Given the description of an element on the screen output the (x, y) to click on. 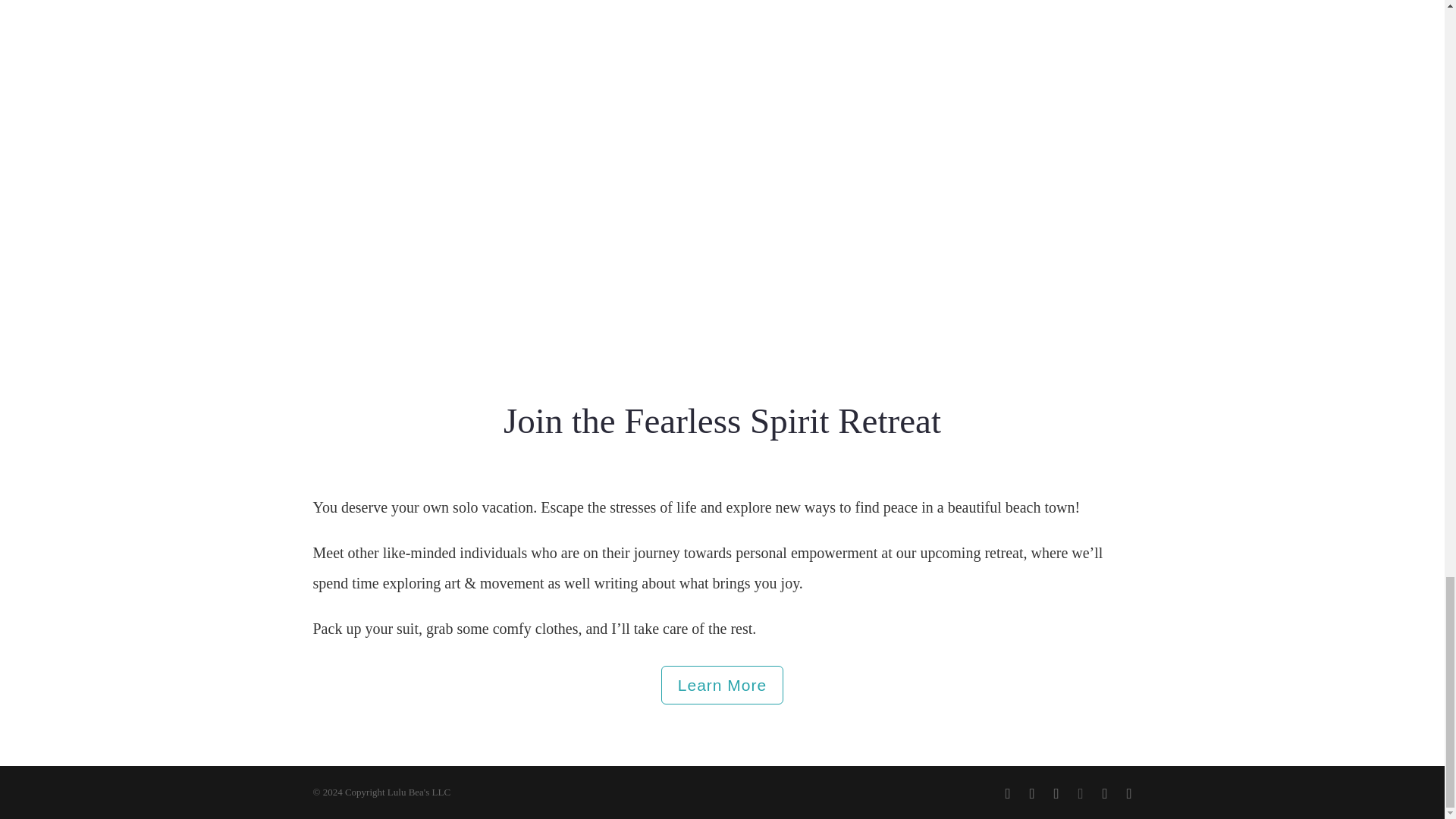
Learn More (722, 684)
